Given the description of an element on the screen output the (x, y) to click on. 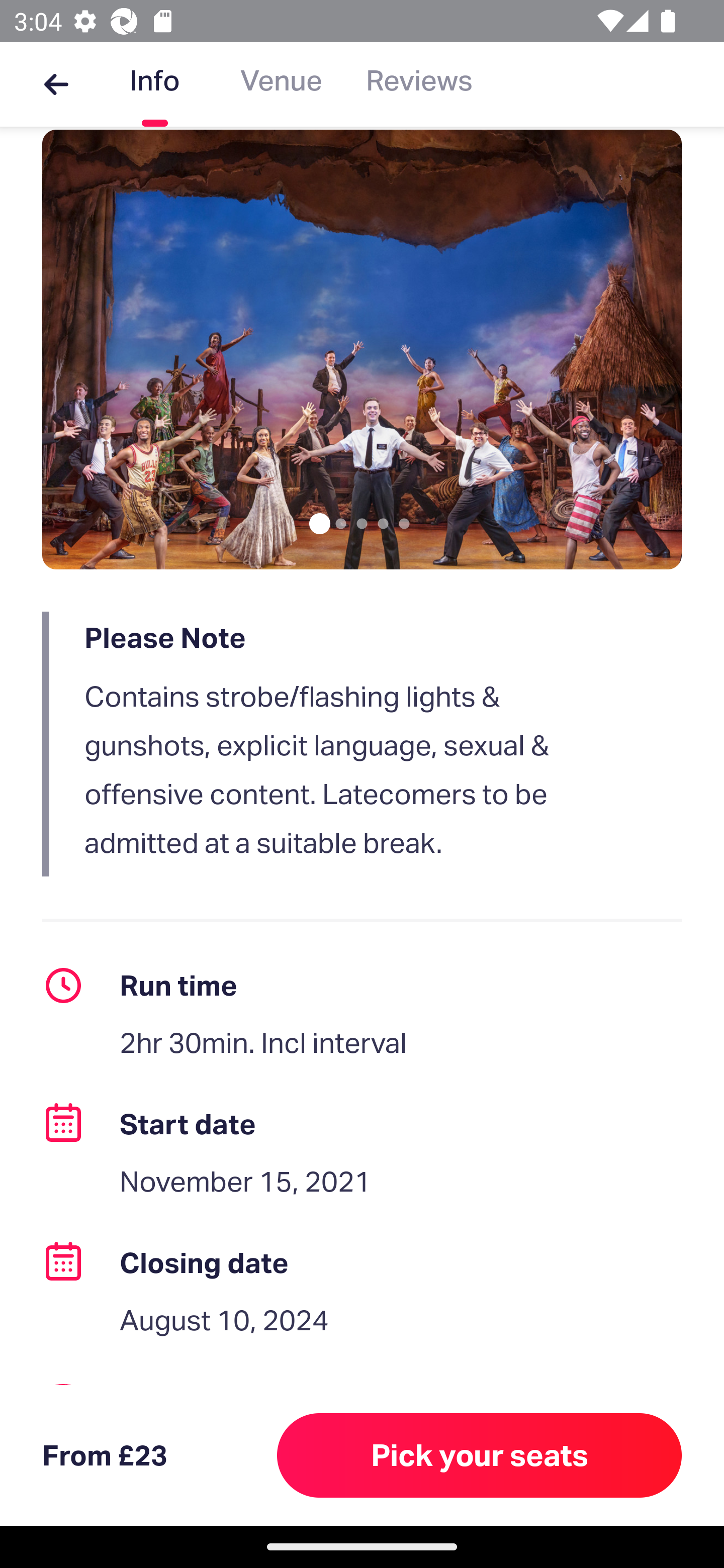
Venue (280, 84)
Reviews (419, 84)
Pick your seats (479, 1454)
